Given the description of an element on the screen output the (x, y) to click on. 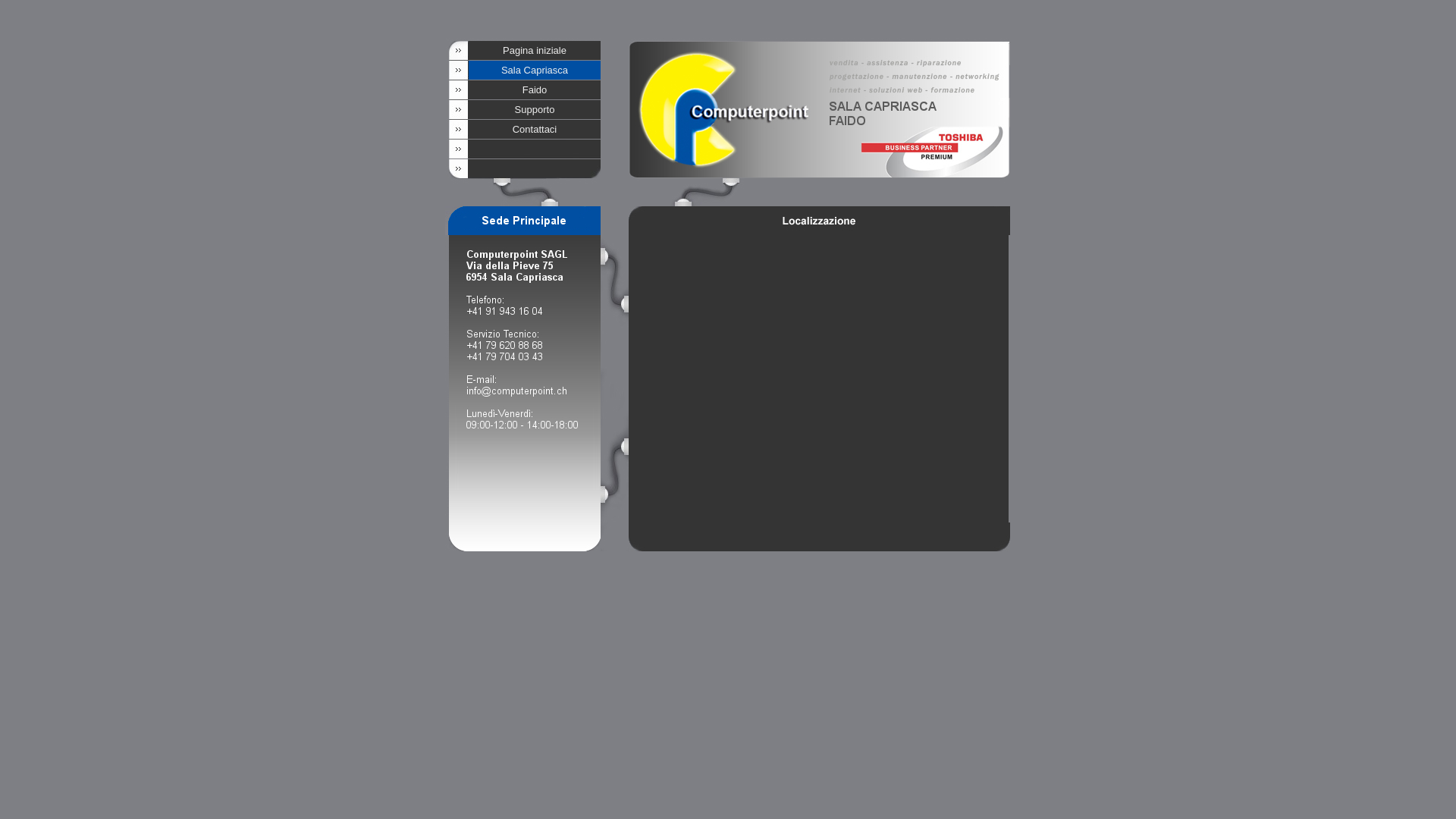
Sala Capriasca Element type: text (534, 70)
Faido Element type: text (534, 90)
Pagina iniziale Element type: text (534, 50)
Contattaci Element type: text (534, 129)
Supporto Element type: text (534, 109)
